Given the description of an element on the screen output the (x, y) to click on. 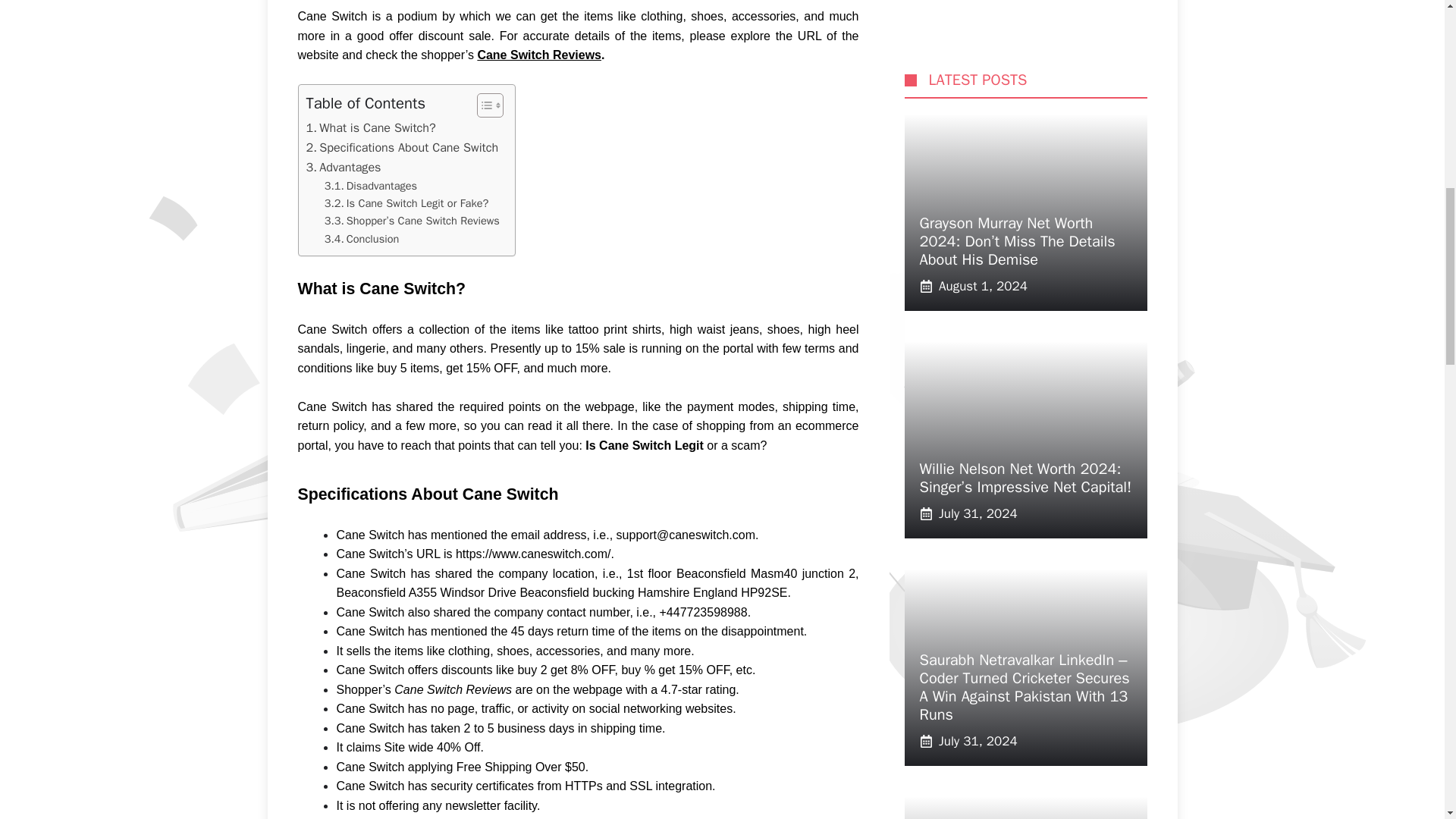
Advantages (343, 167)
Disadvantages (370, 185)
Conclusion (361, 239)
Is Cane Switch Legit or Fake? (406, 203)
Specifications About Cane Switch (402, 148)
What is Cane Switch? (370, 127)
Scroll back to top (1406, 720)
